Given the description of an element on the screen output the (x, y) to click on. 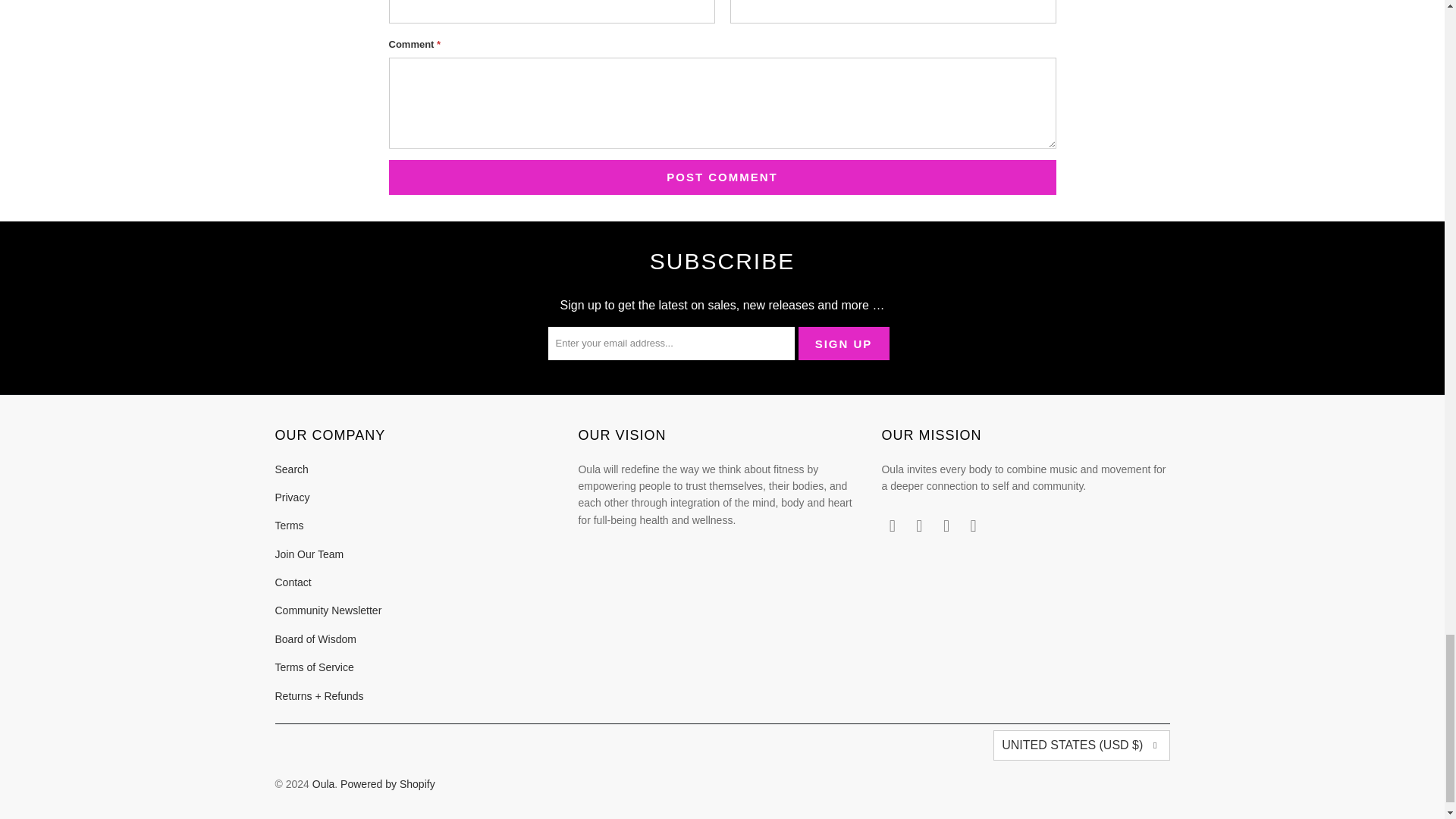
Post comment (721, 176)
Sign Up (842, 343)
